Given the description of an element on the screen output the (x, y) to click on. 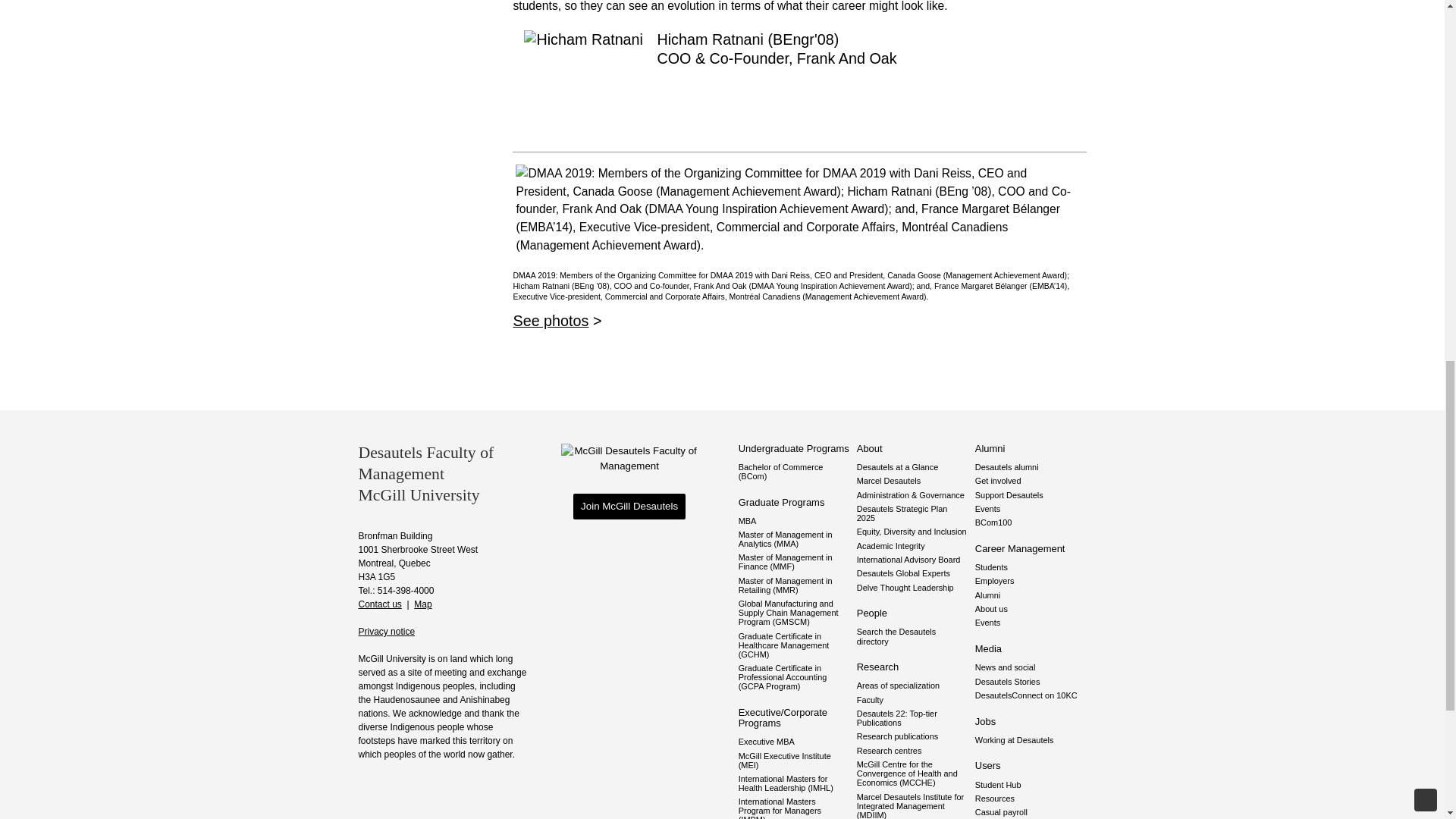
Hicham Ratnani  (584, 90)
